Given the description of an element on the screen output the (x, y) to click on. 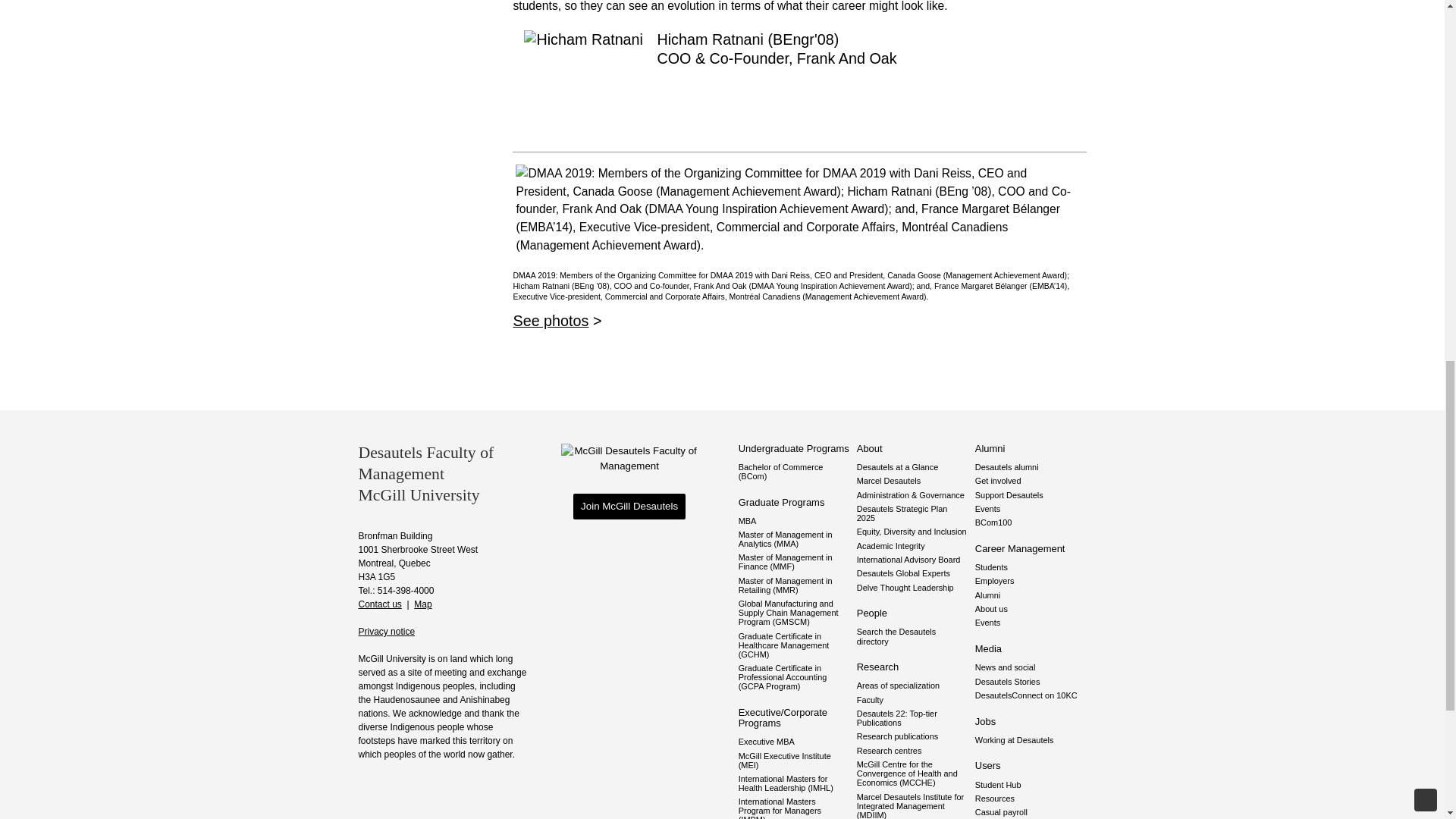
Hicham Ratnani  (584, 90)
